Given the description of an element on the screen output the (x, y) to click on. 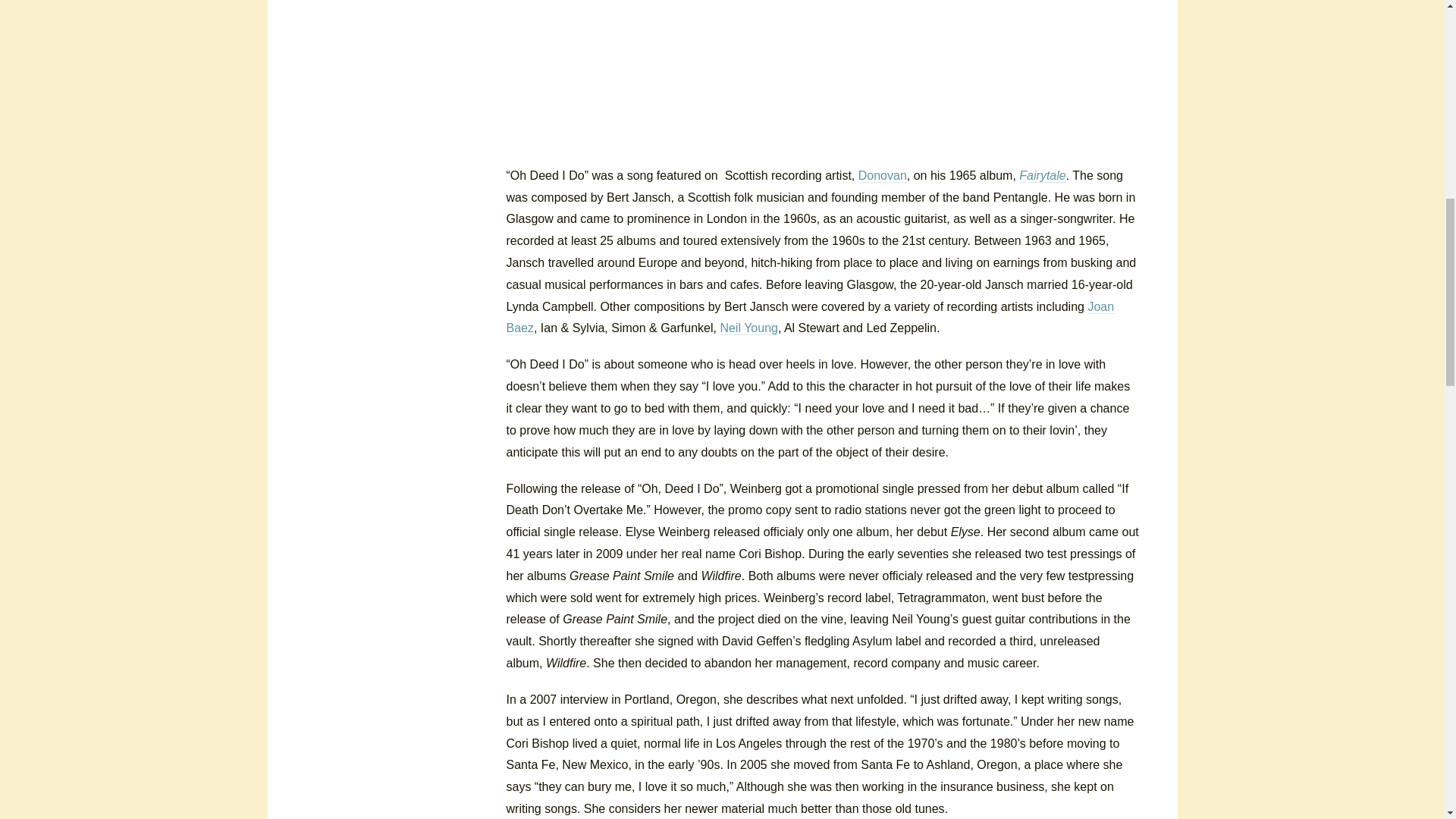
Oh Deed I Do by Elyse Weinberg (619, 71)
Fairytale (1042, 175)
Donovan (883, 175)
Joan Baez (810, 317)
Neil Young (748, 327)
